Given the description of an element on the screen output the (x, y) to click on. 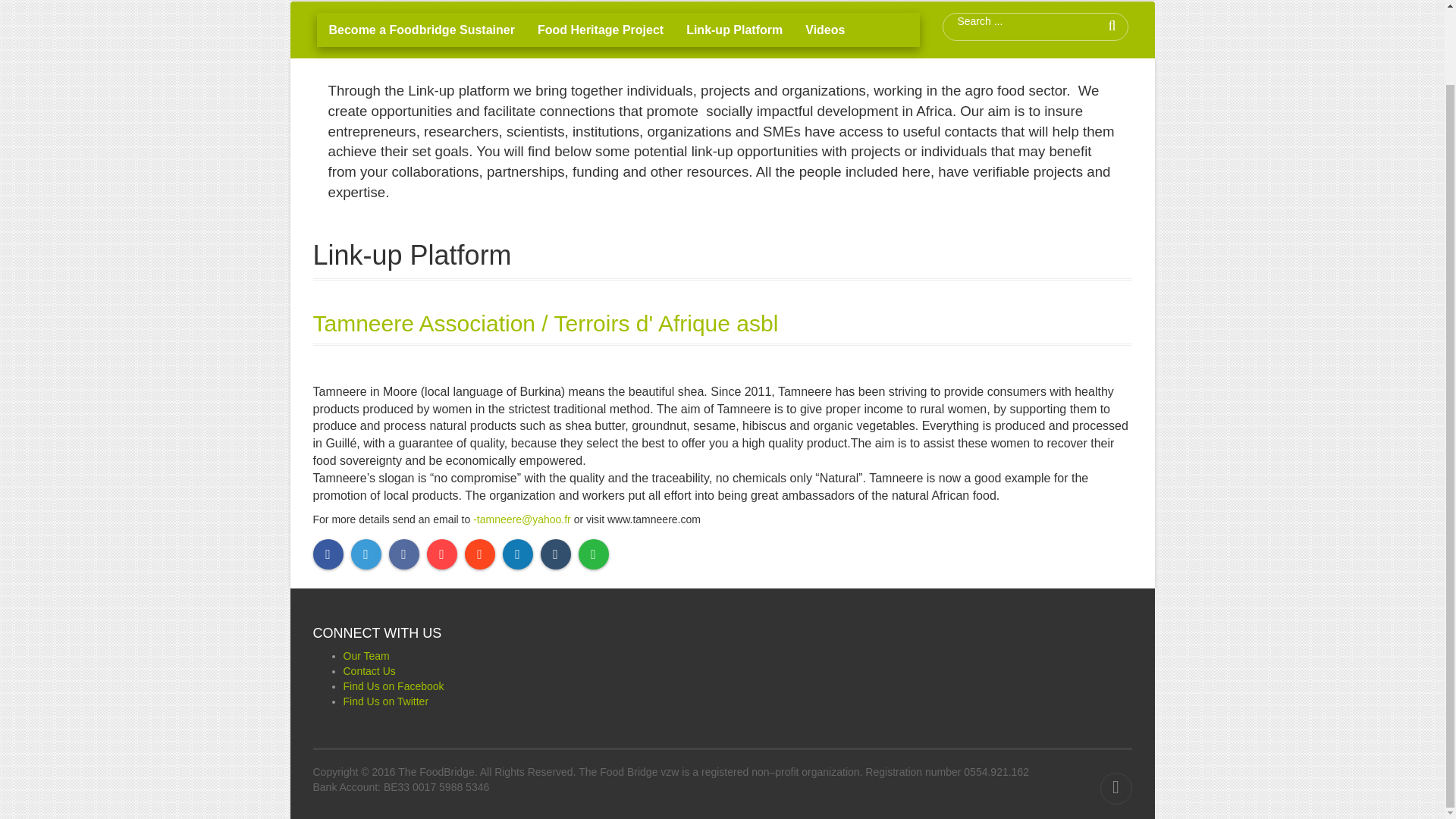
Search ... (1009, 20)
Become a Foodbridge Sustainer (421, 29)
Contact Us (368, 671)
Our Team (365, 655)
Find Us on Twitter (385, 701)
Search ... (1009, 20)
Videos (824, 29)
Link-up Platform (734, 29)
Back to Top (1115, 788)
Food Heritage Project (600, 29)
Find Us on Facebook (393, 686)
